Given the description of an element on the screen output the (x, y) to click on. 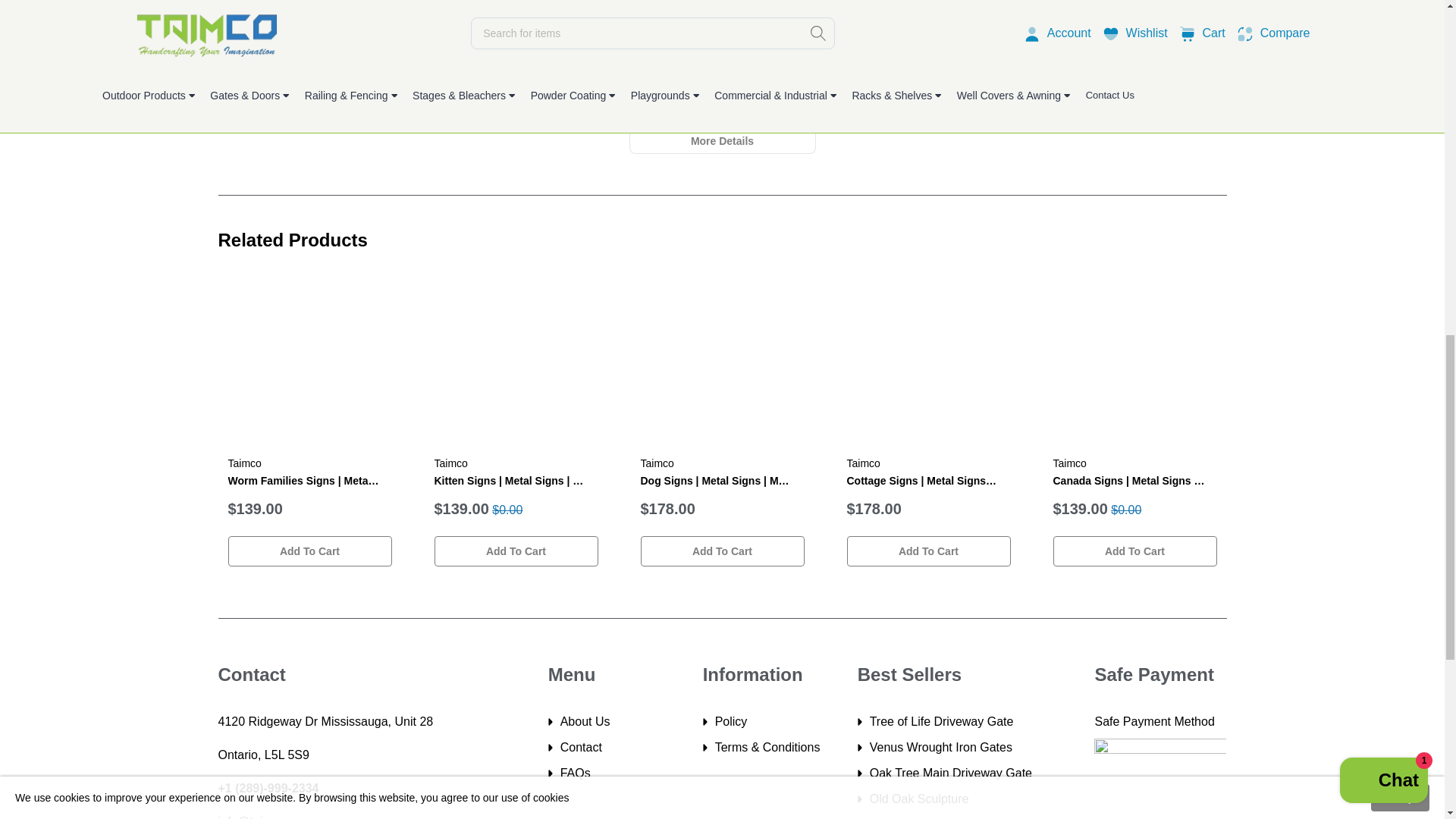
Taimco (243, 463)
Taimco (450, 463)
Taimco (1069, 463)
Taimco (862, 463)
Taimco (656, 463)
